Given the description of an element on the screen output the (x, y) to click on. 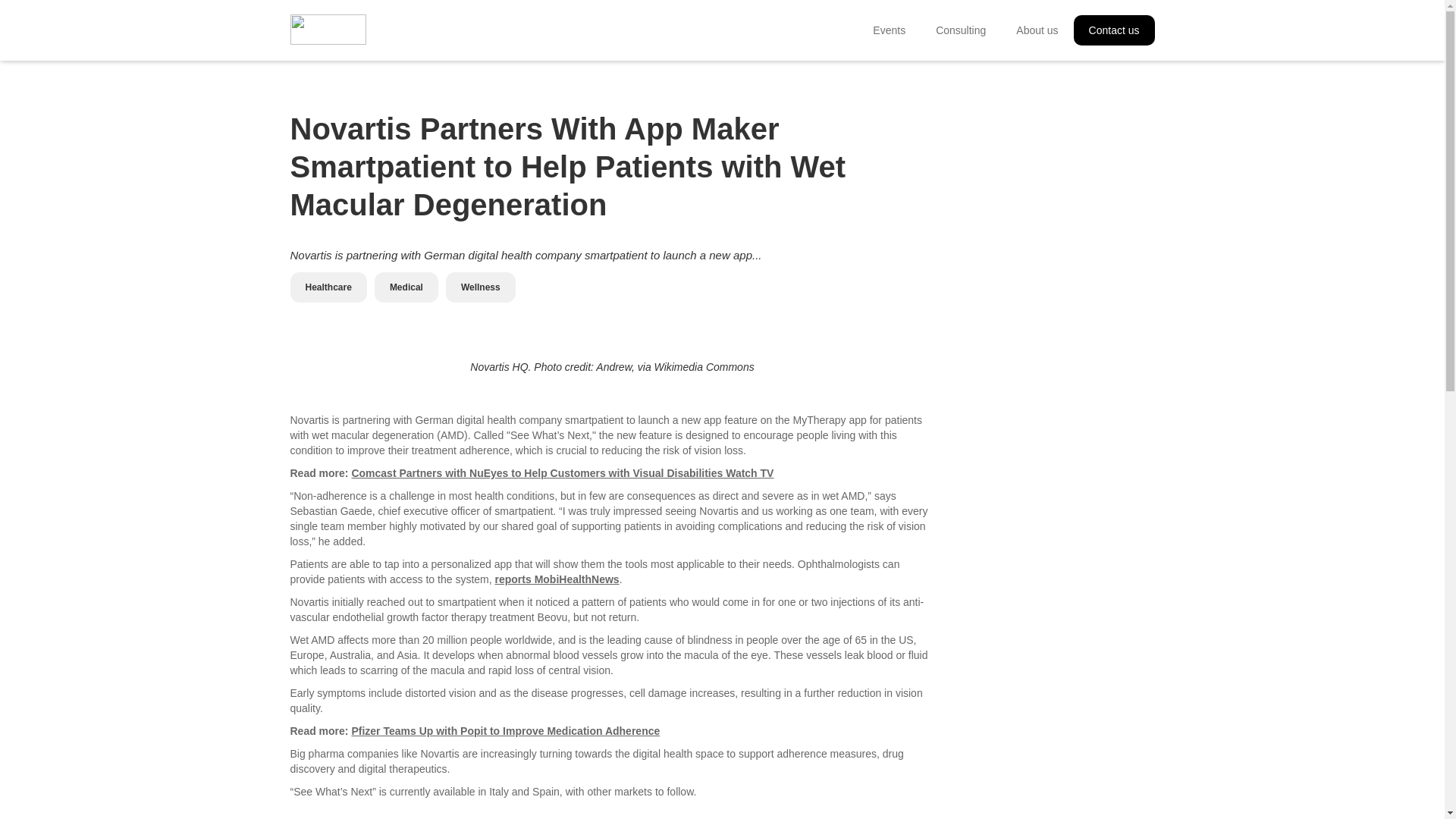
reports MobiHealthNews (557, 579)
About us (1037, 30)
Consulting (960, 30)
Pfizer Teams Up with Popit to Improve Medication Adherence (504, 730)
Contact us (1114, 30)
Events (888, 30)
